Given the description of an element on the screen output the (x, y) to click on. 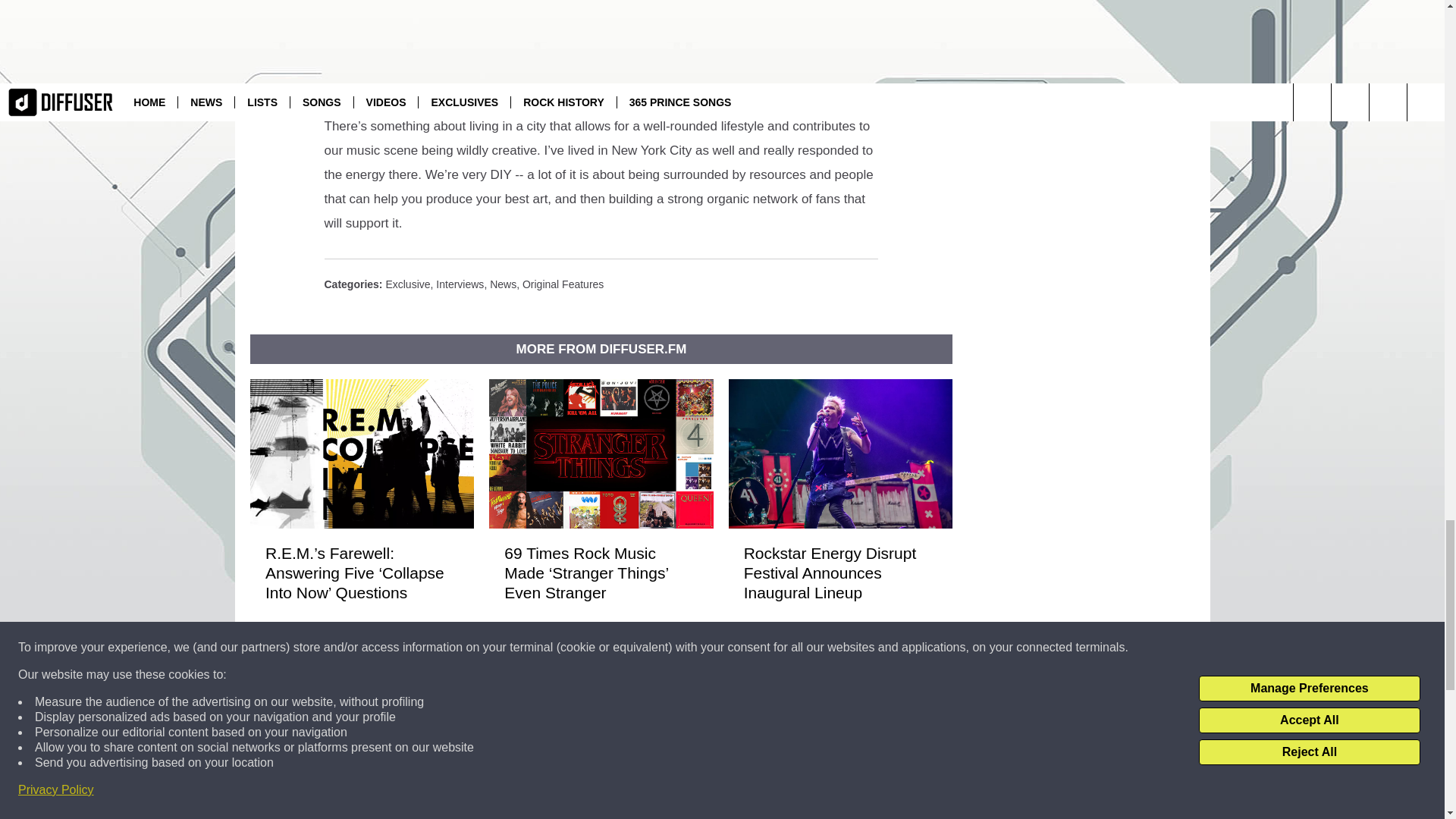
The Best Song From Every Radiohead Album (361, 806)
Exclusive (407, 284)
Original Features (563, 284)
News (502, 284)
Rockstar Energy Disrupt Festival Announces Inaugural Lineup (839, 572)
14 Secretly Cruel Soft Rock Love Songs (839, 806)
Top 10 Tool Songs (600, 804)
Interviews (459, 284)
